Given the description of an element on the screen output the (x, y) to click on. 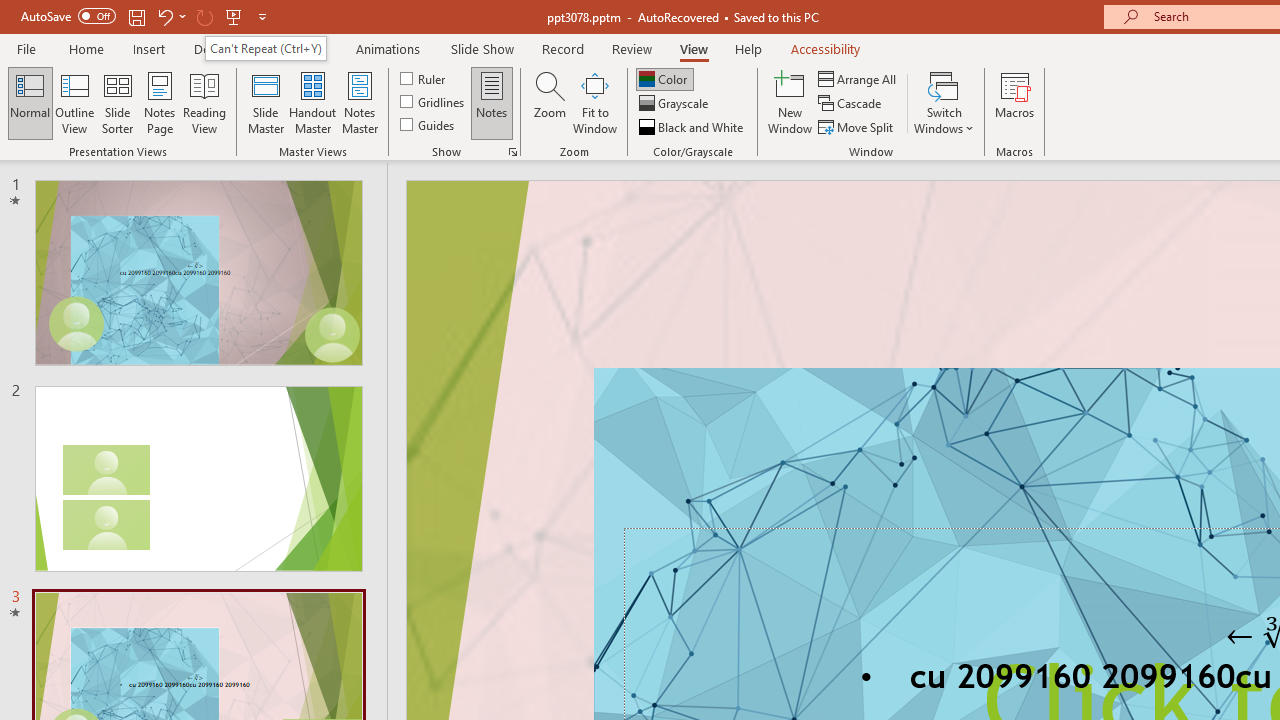
Notes Master (360, 102)
Grid Settings... (512, 151)
Handout Master (312, 102)
Move Split (857, 126)
